Given the description of an element on the screen output the (x, y) to click on. 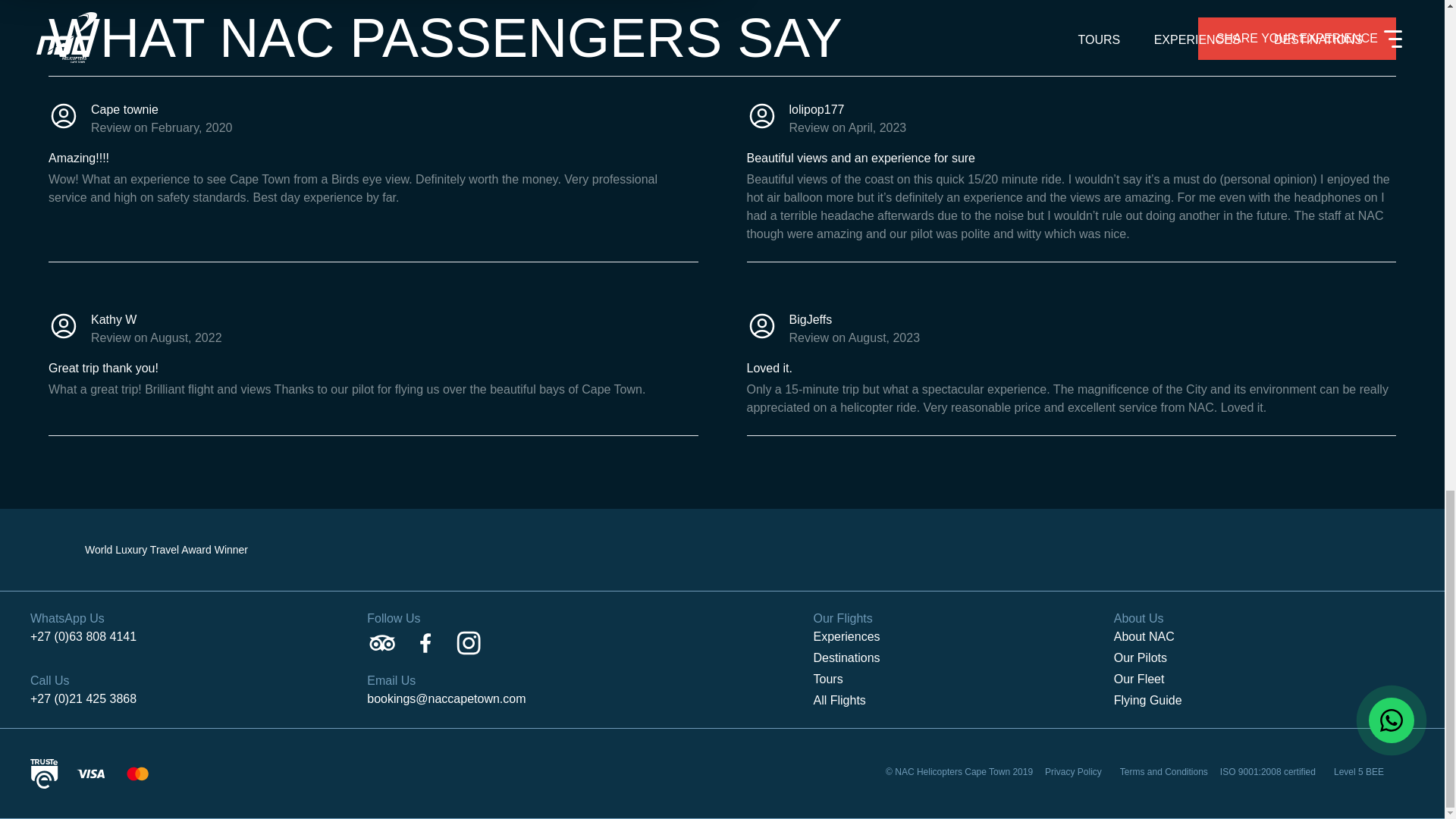
Our Fleet (1263, 679)
Our Pilots (1263, 658)
Privacy Policy (1073, 771)
About NAC (1263, 637)
Flying Guide (1263, 700)
SHARE YOUR EXPERIENCE (1297, 38)
Destinations (962, 658)
Tours (962, 679)
Terms and Conditions (1163, 771)
Experiences (962, 637)
All Flights (962, 700)
